Given the description of an element on the screen output the (x, y) to click on. 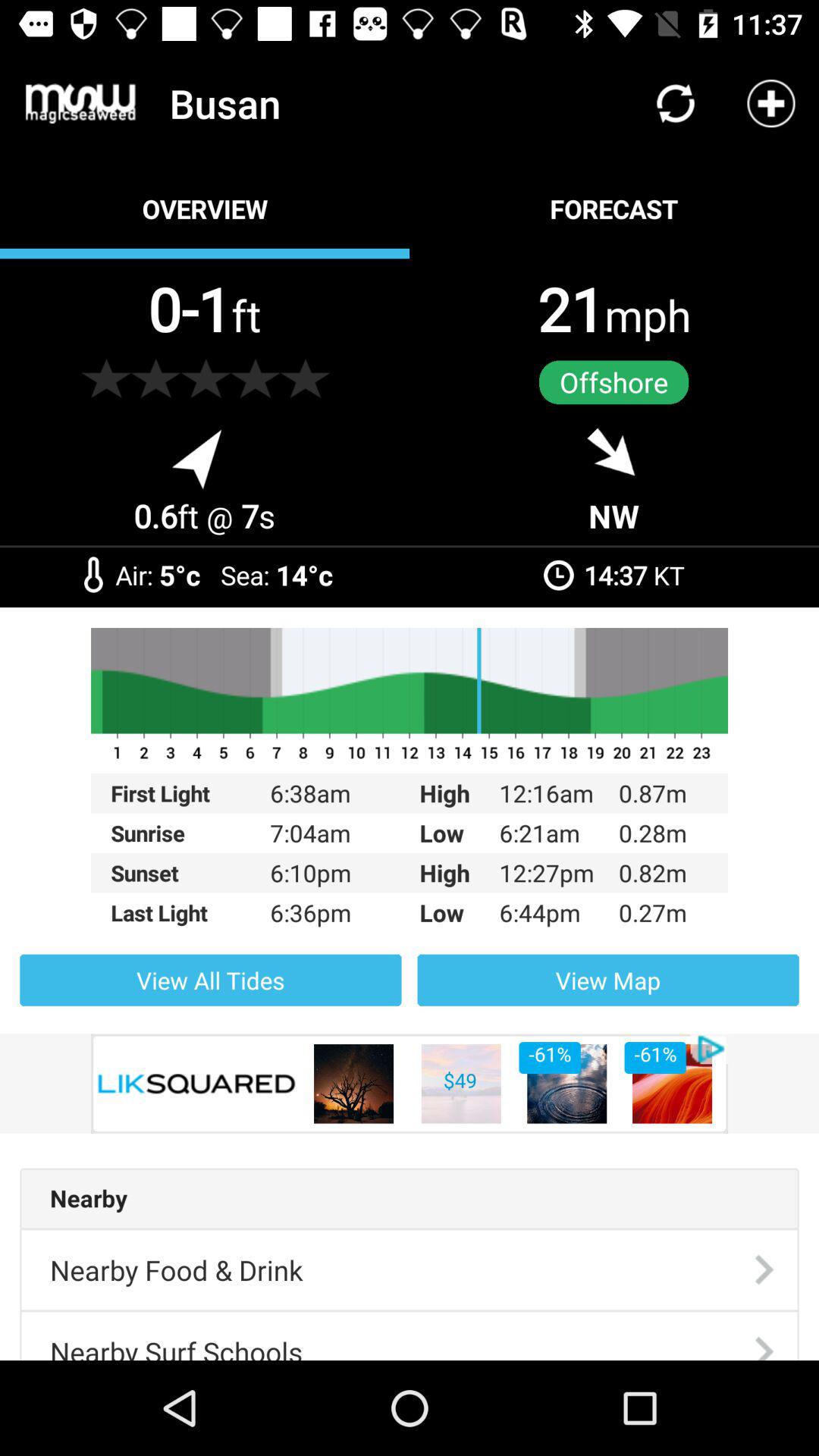
choose the item next to the busan (80, 103)
